Given the description of an element on the screen output the (x, y) to click on. 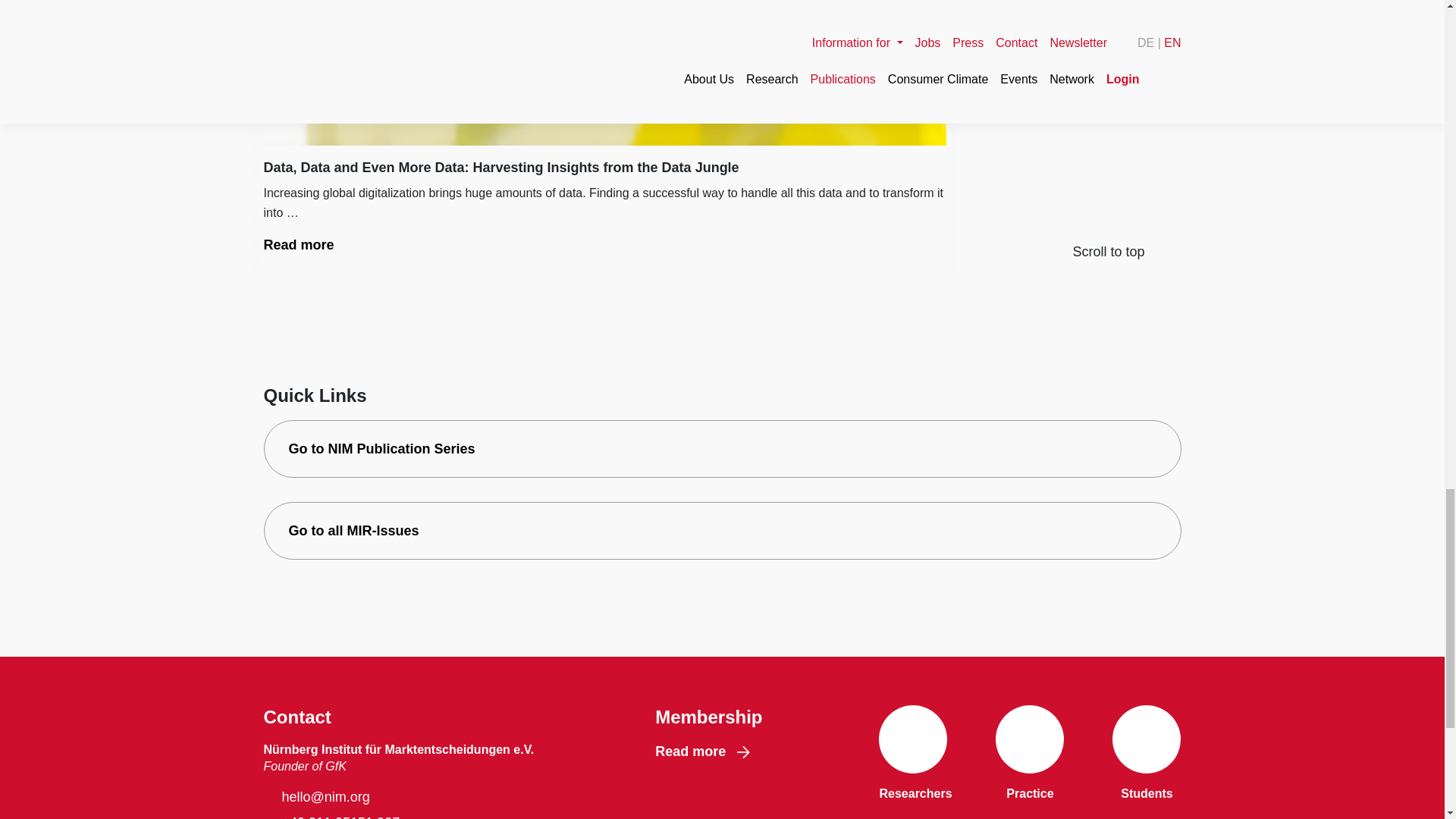
Scroll to top (1074, 251)
